Given the description of an element on the screen output the (x, y) to click on. 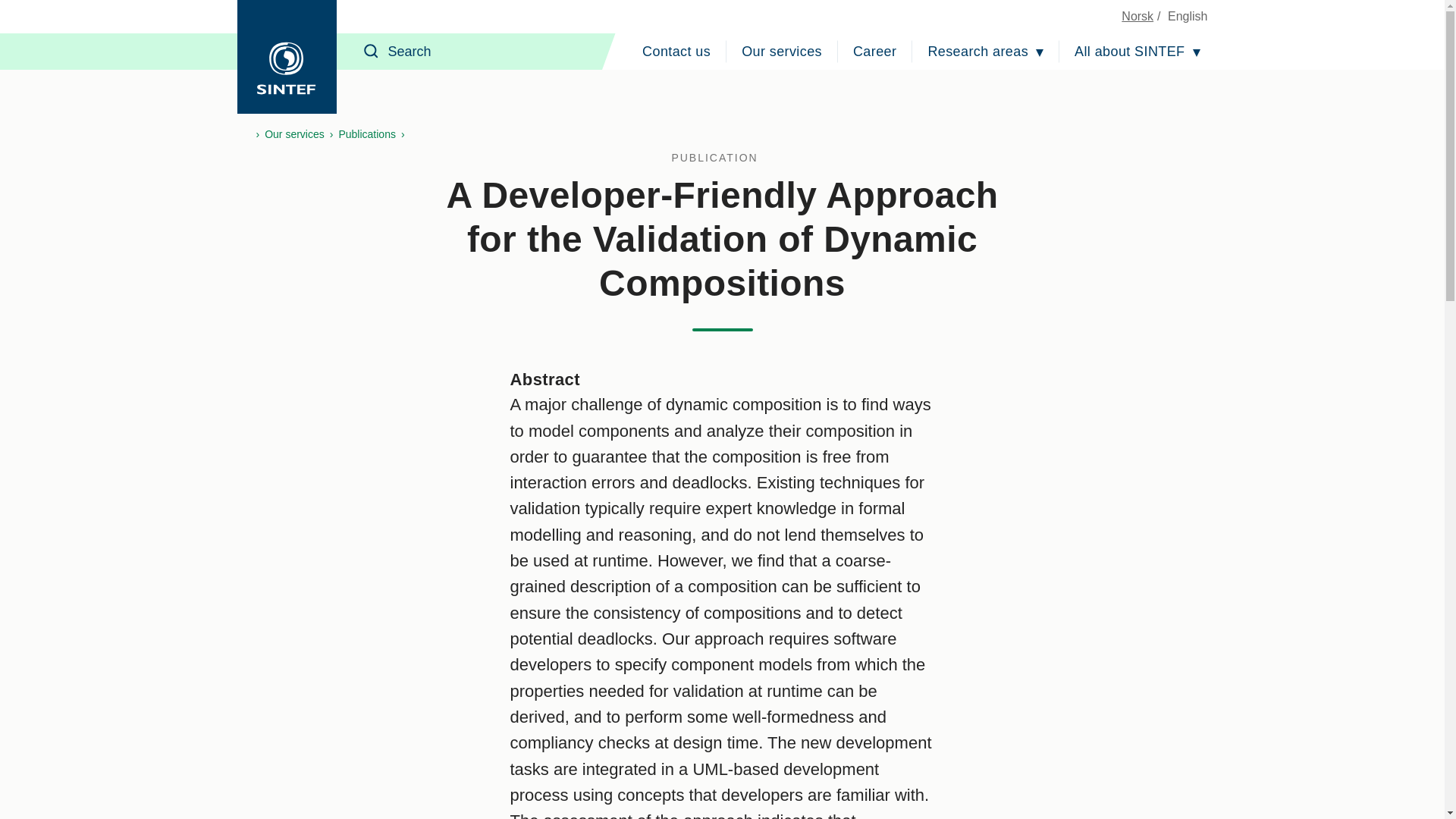
All publications (722, 157)
Our services (781, 51)
All about SINTEF (1137, 51)
Career (874, 51)
Research areas (985, 51)
Contact us (675, 51)
Norsk (1137, 16)
